Given the description of an element on the screen output the (x, y) to click on. 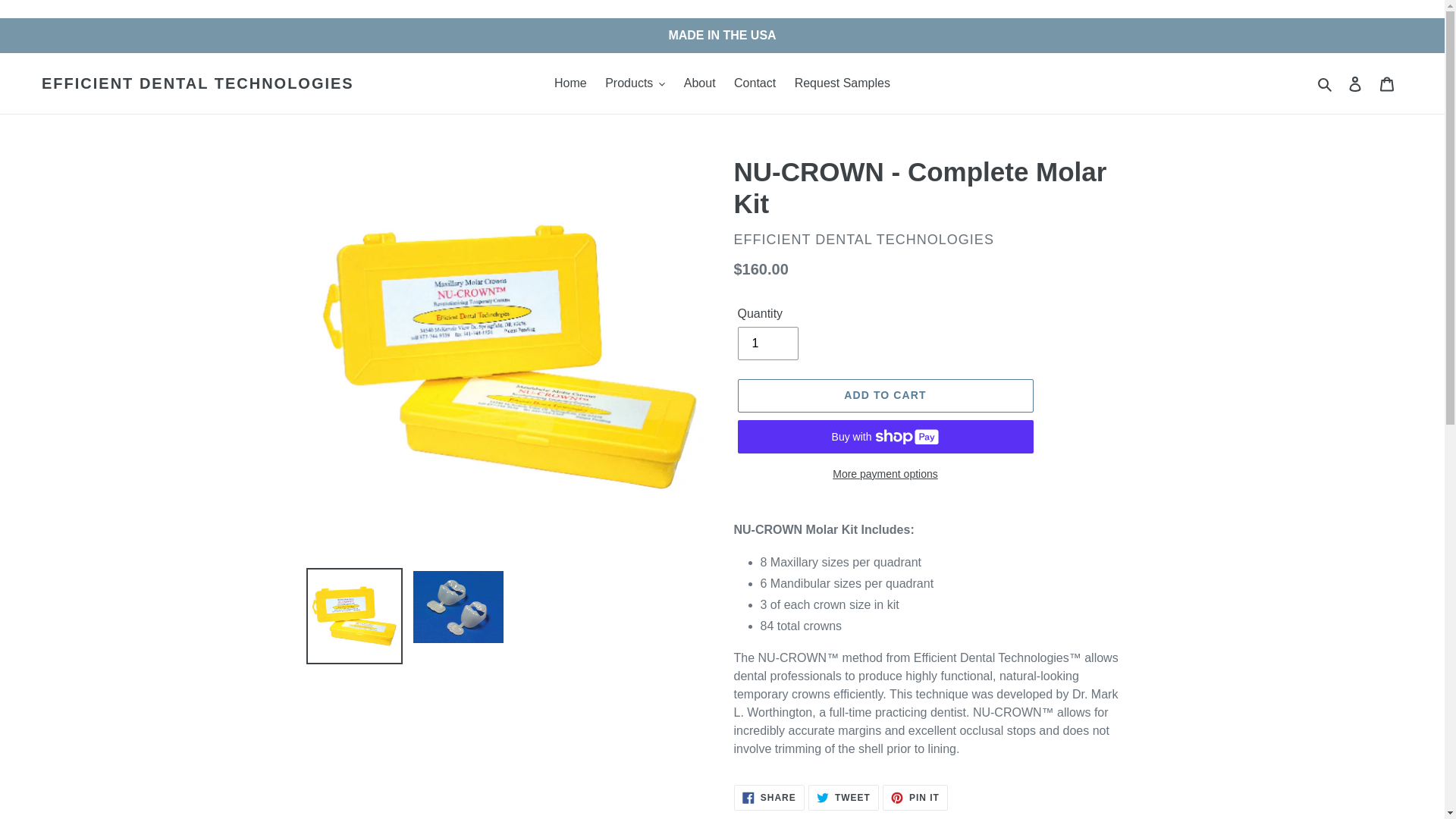
More payment options (884, 474)
Home (570, 83)
Products (769, 797)
Contact (634, 83)
Request Samples (754, 83)
Search (842, 83)
1 (1326, 83)
About (766, 343)
ADD TO CART (700, 83)
EFFICIENT DENTAL TECHNOLOGIES (884, 395)
Cart (843, 797)
Log in (197, 83)
